Given the description of an element on the screen output the (x, y) to click on. 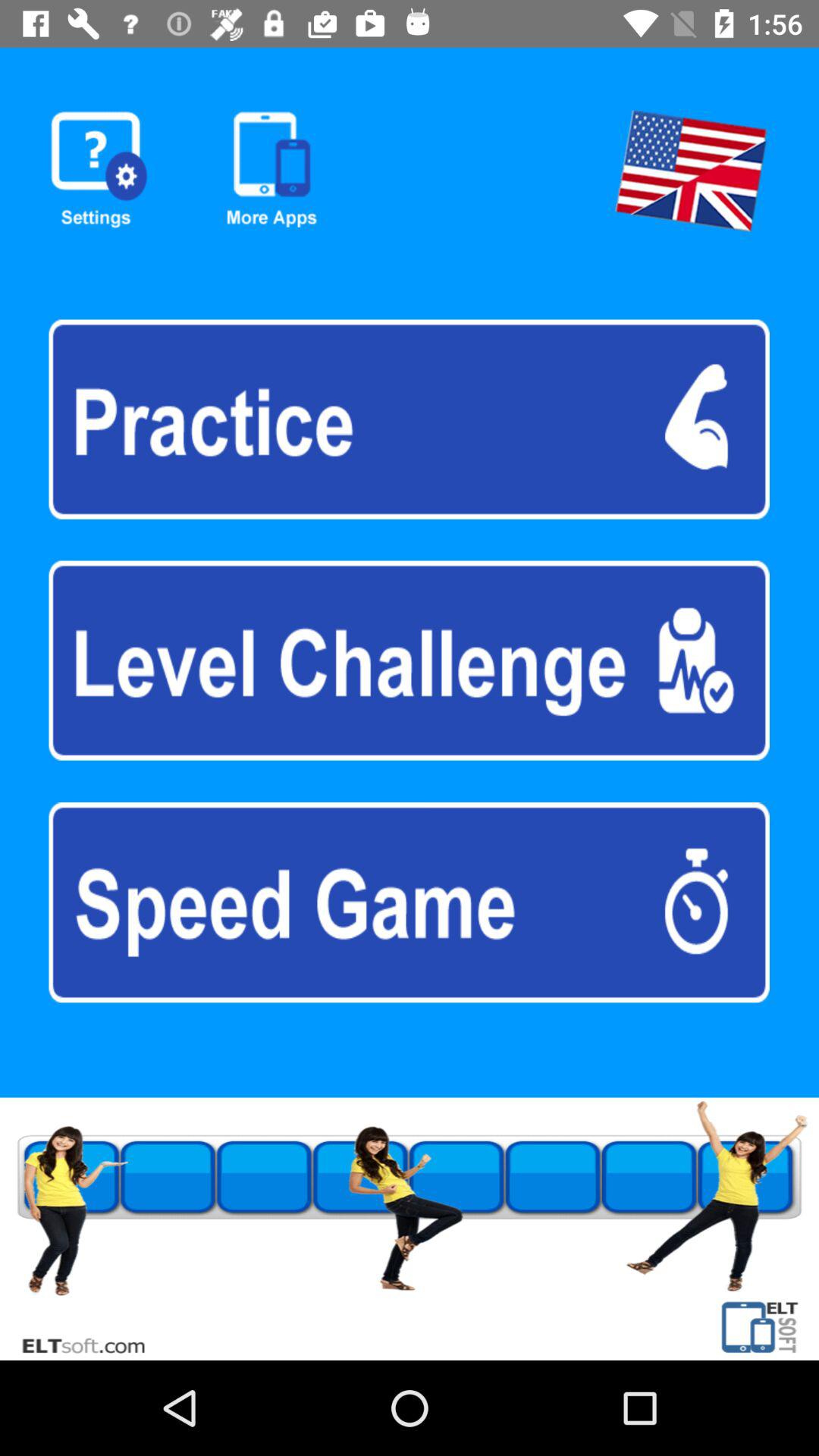
show more apps (271, 170)
